Given the description of an element on the screen output the (x, y) to click on. 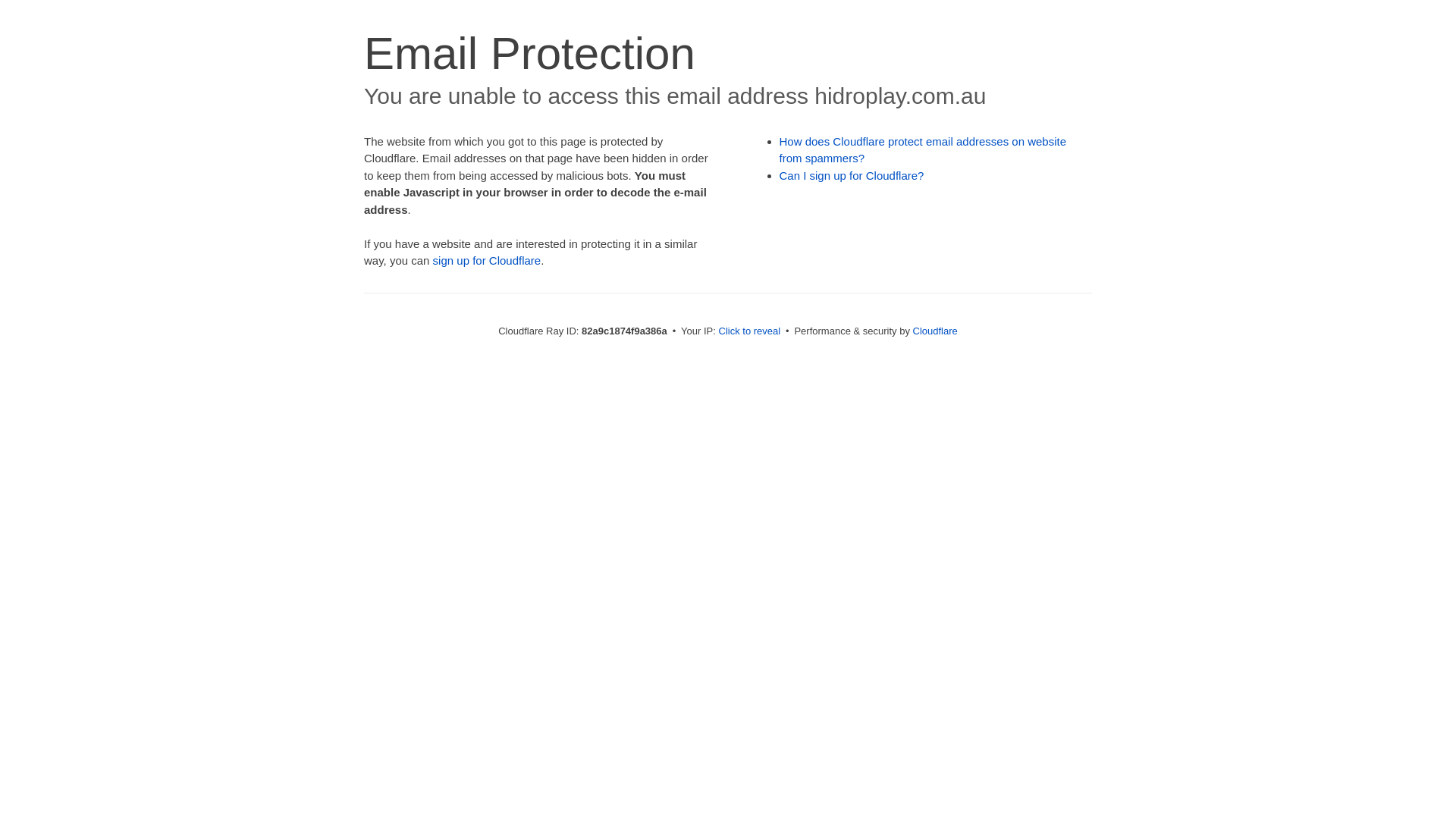
sign up for Cloudflare Element type: text (487, 260)
Click to reveal Element type: text (749, 330)
Can I sign up for Cloudflare? Element type: text (851, 175)
Cloudflare Element type: text (935, 330)
